Given the description of an element on the screen output the (x, y) to click on. 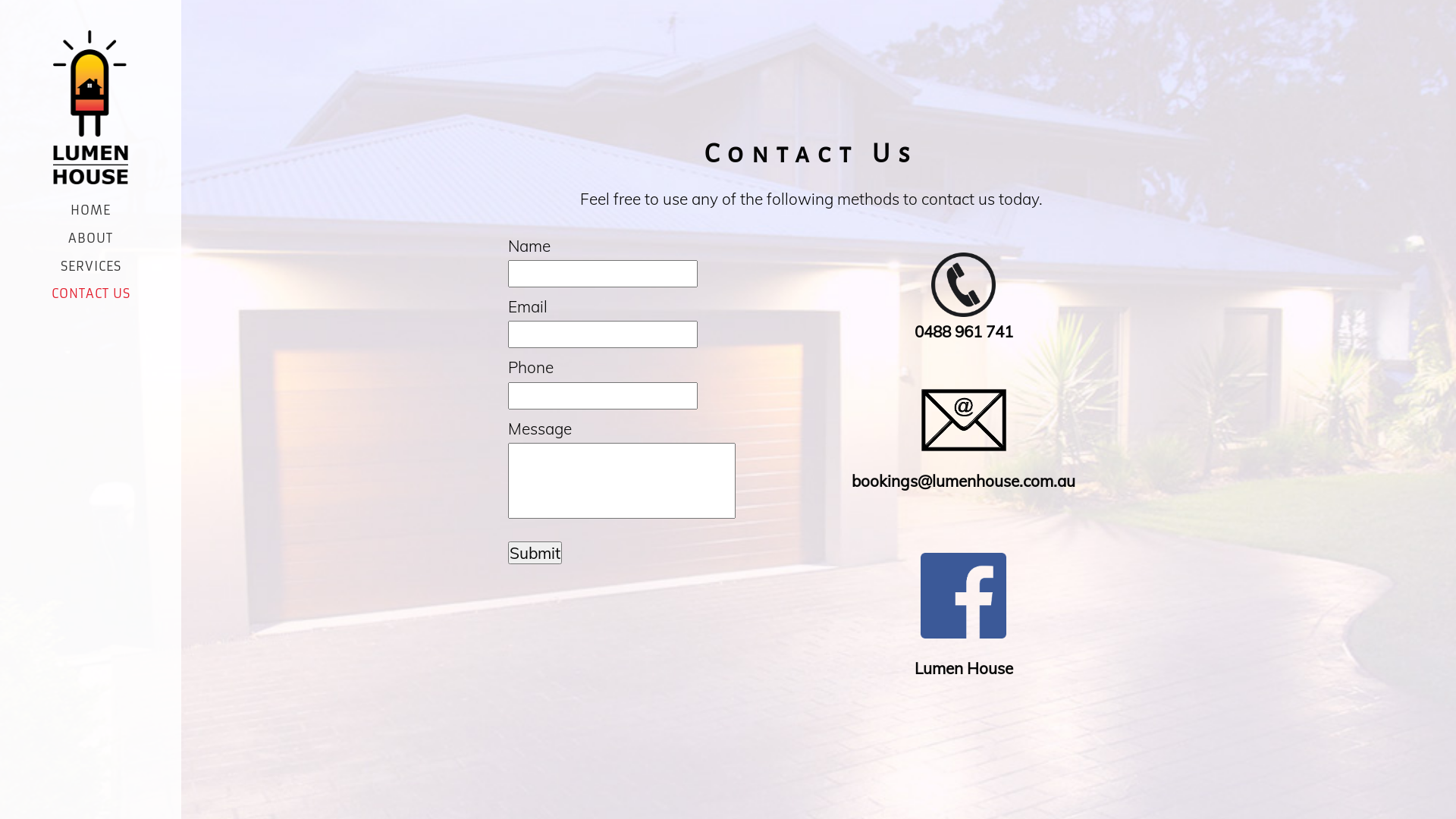
CONTACT US Element type: text (90, 293)
ABOUT Element type: text (90, 237)
SERVICES Element type: text (90, 265)
HOME Element type: text (90, 209)
Submit Element type: text (534, 552)
